Given the description of an element on the screen output the (x, y) to click on. 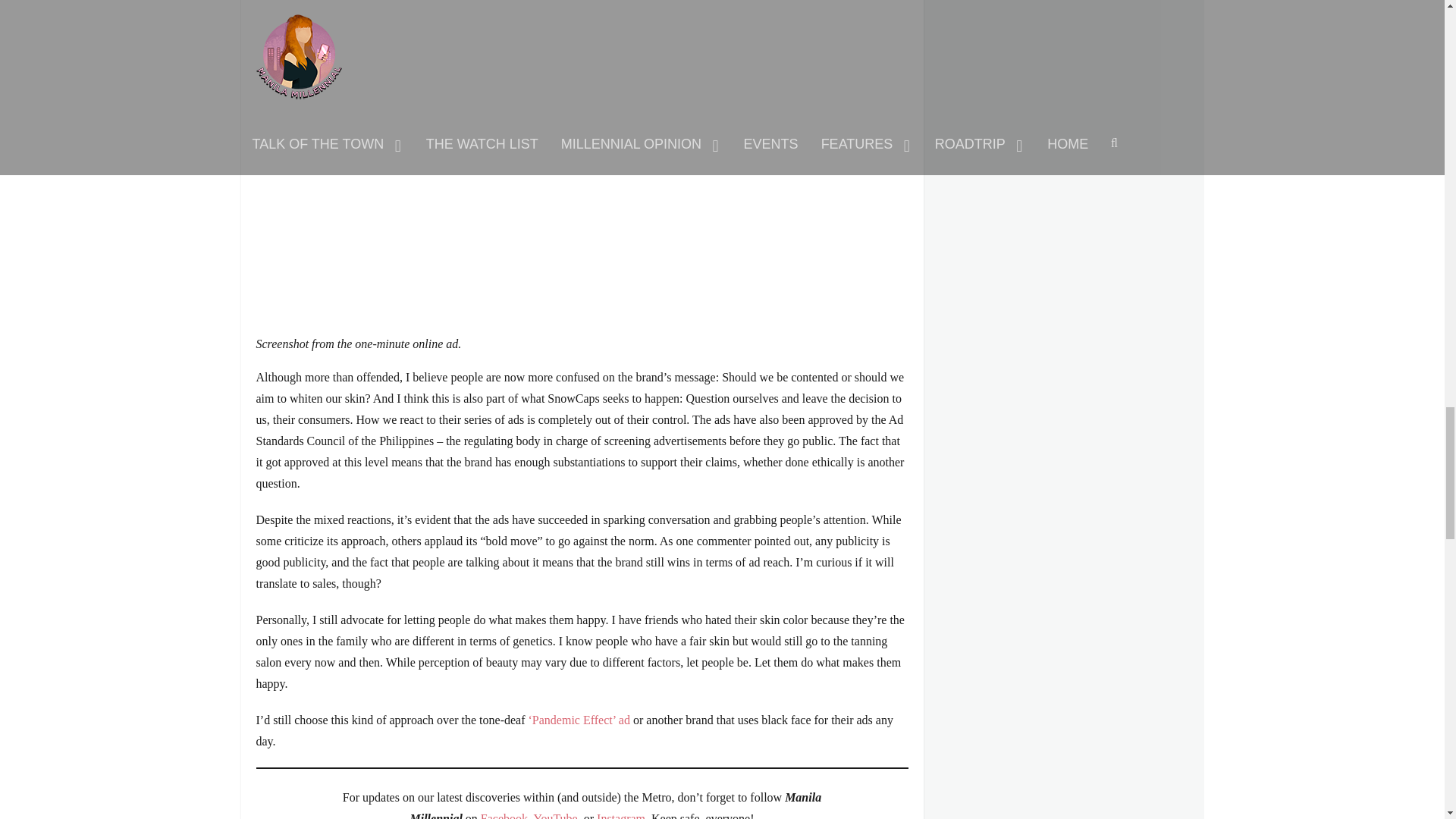
YouTube (554, 815)
Facebook (503, 815)
Instagram (620, 815)
